Given the description of an element on the screen output the (x, y) to click on. 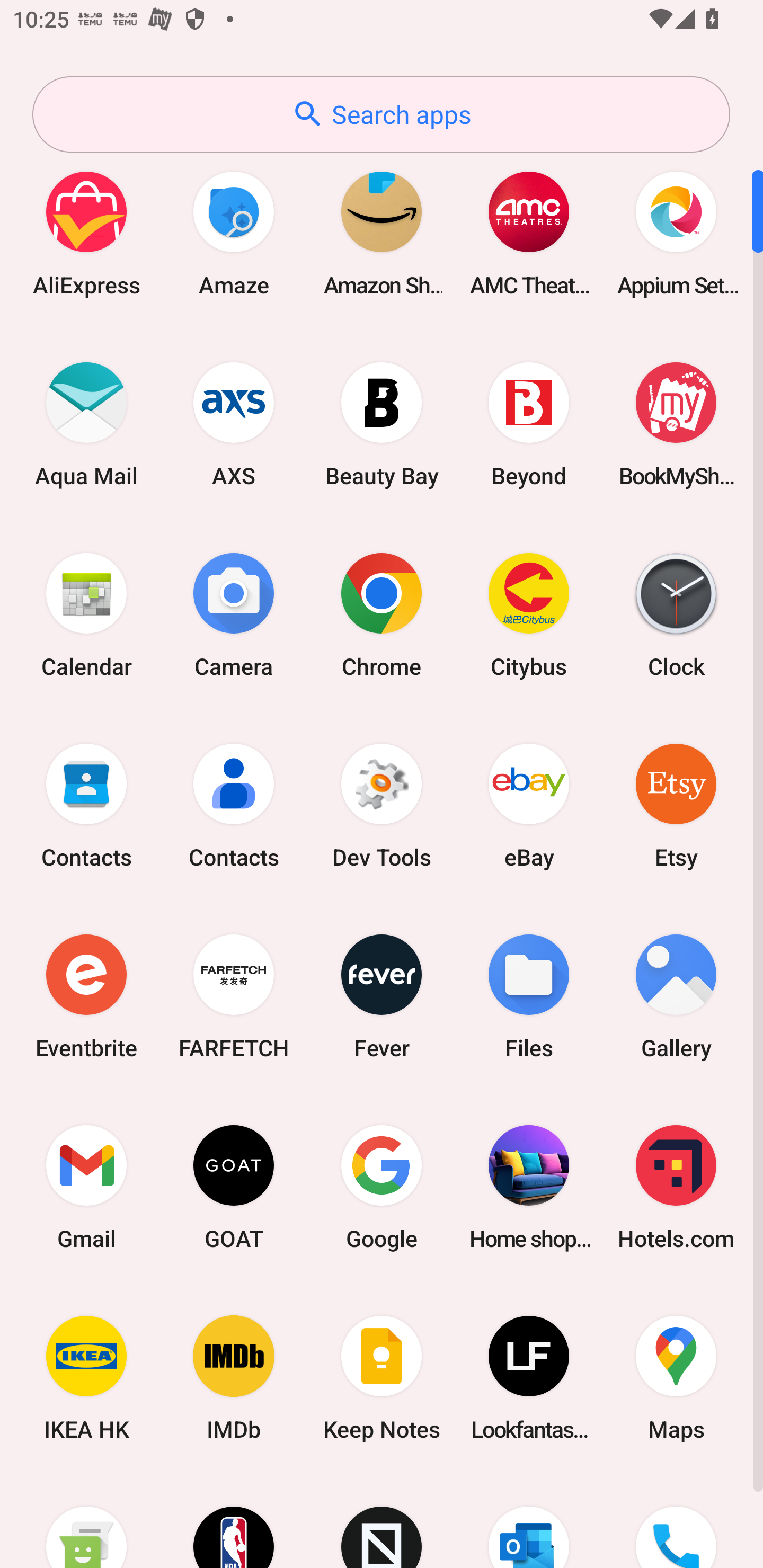
  Search apps (381, 114)
AliExpress (86, 233)
Amaze (233, 233)
Amazon Shopping (381, 233)
AMC Theatres (528, 233)
Appium Settings (676, 233)
Aqua Mail (86, 424)
AXS (233, 424)
Beauty Bay (381, 424)
Beyond (528, 424)
BookMyShow (676, 424)
Calendar (86, 614)
Camera (233, 614)
Chrome (381, 614)
Citybus (528, 614)
Clock (676, 614)
Contacts (86, 805)
Contacts (233, 805)
Dev Tools (381, 805)
eBay (528, 805)
Etsy (676, 805)
Eventbrite (86, 996)
FARFETCH (233, 996)
Fever (381, 996)
Files (528, 996)
Gallery (676, 996)
Gmail (86, 1186)
GOAT (233, 1186)
Google (381, 1186)
Home shopping (528, 1186)
Hotels.com (676, 1186)
IKEA HK (86, 1377)
IMDb (233, 1377)
Keep Notes (381, 1377)
Lookfantastic (528, 1377)
Maps (676, 1377)
